Given the description of an element on the screen output the (x, y) to click on. 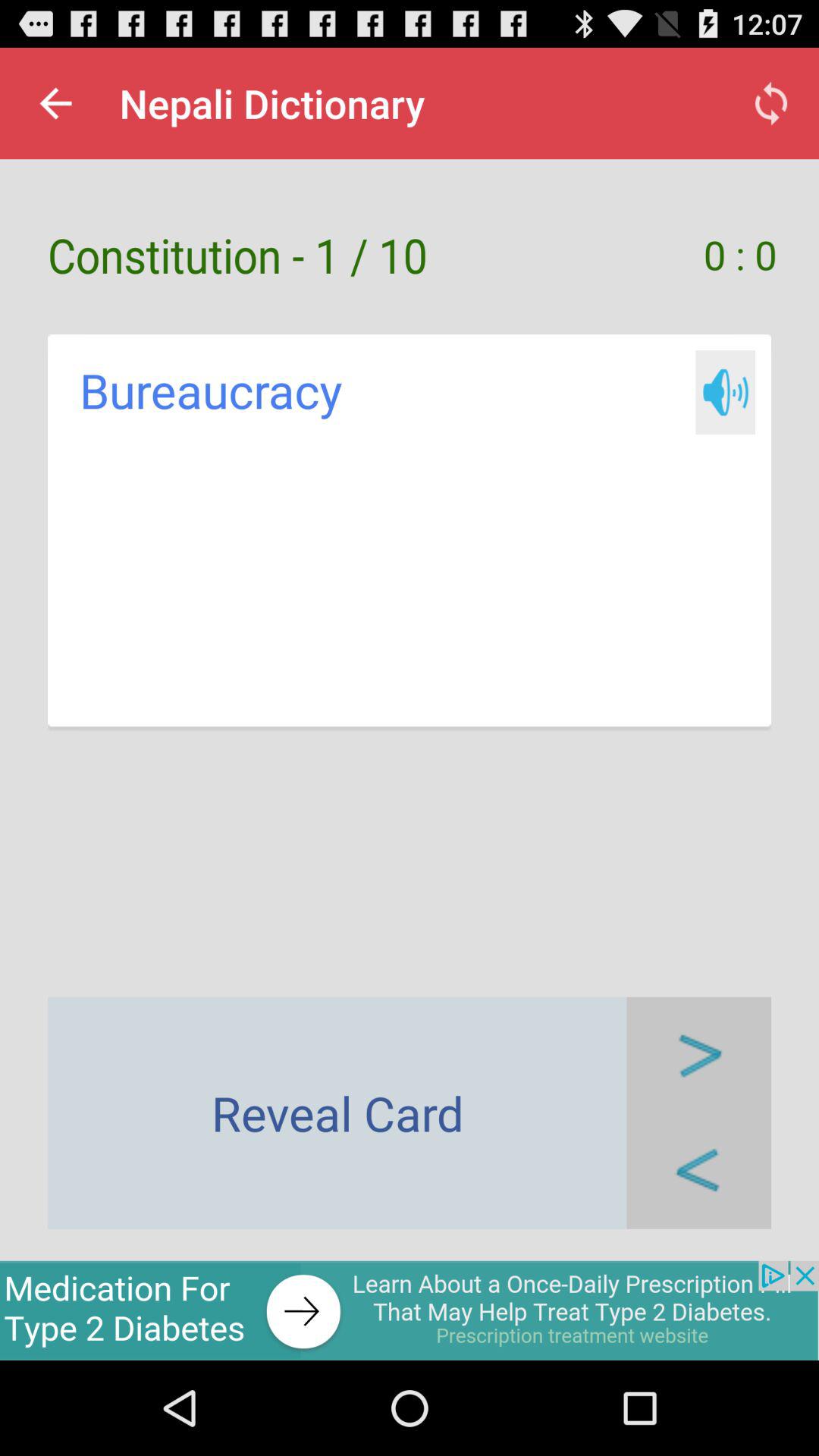
go to another site (409, 1310)
